Given the description of an element on the screen output the (x, y) to click on. 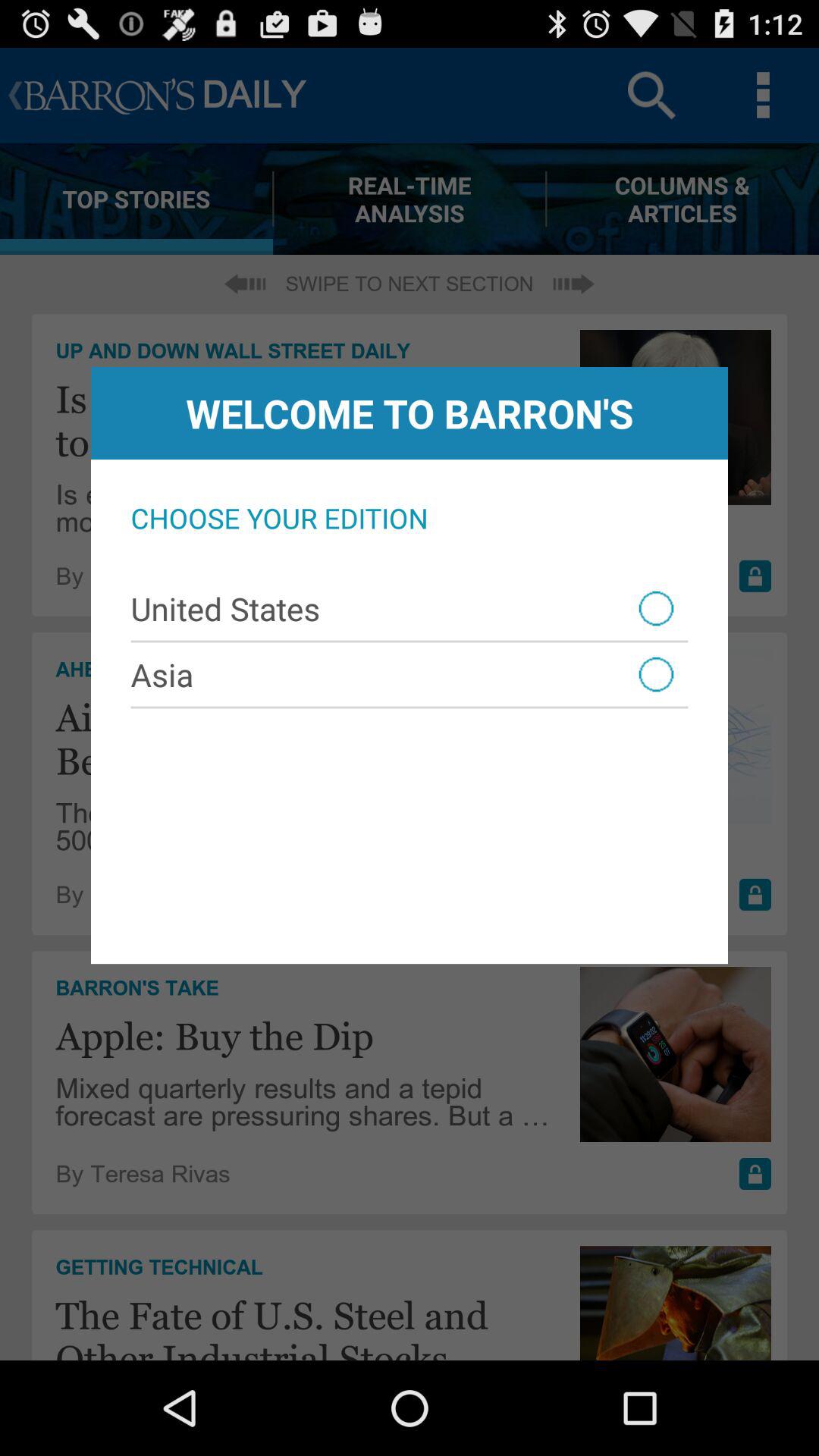
select the icon below the choose your edition icon (409, 608)
